Given the description of an element on the screen output the (x, y) to click on. 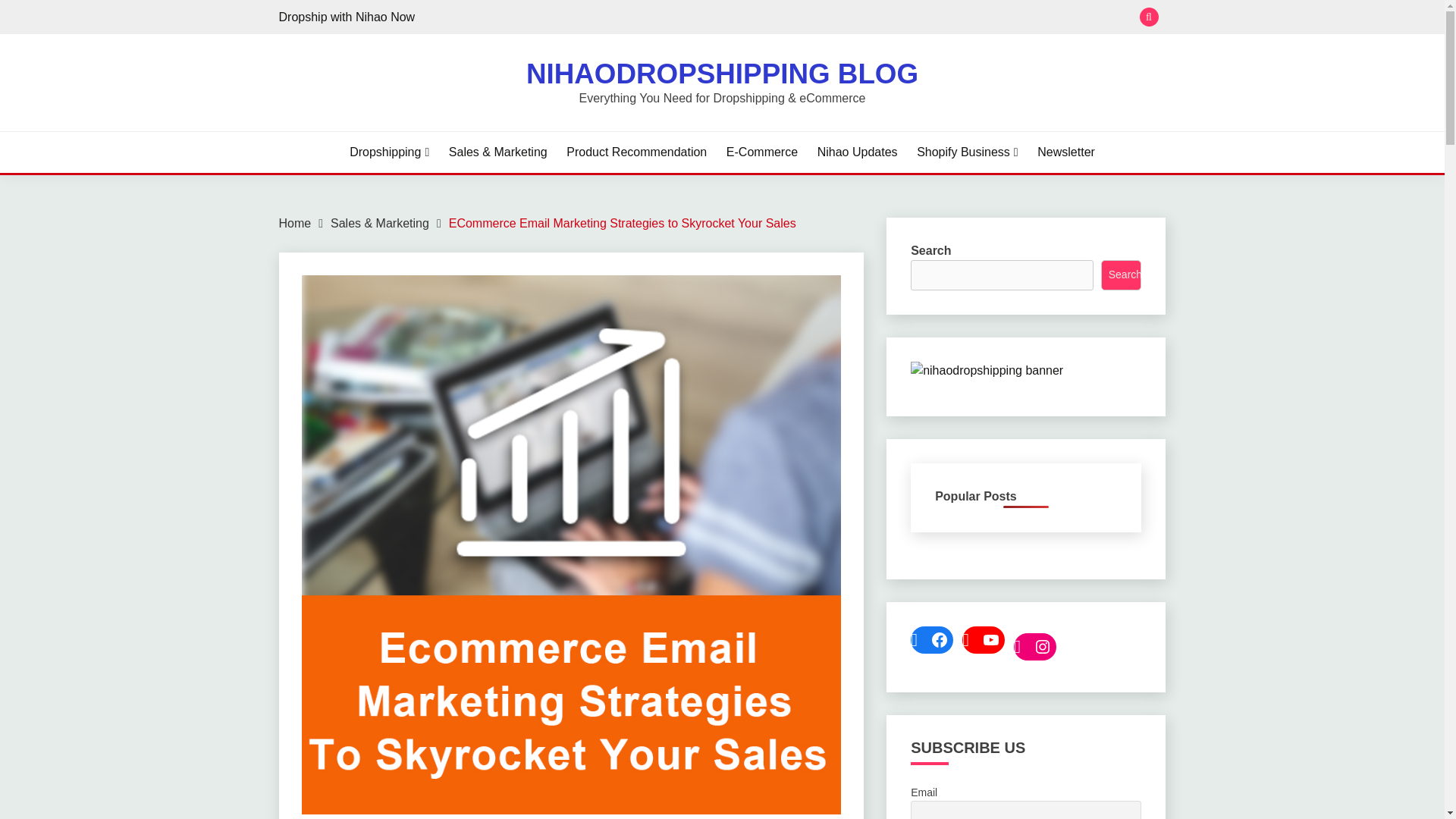
Dropshipping (389, 152)
Search (832, 18)
Newsletter (1065, 152)
Shopify Business (967, 152)
NIHAODROPSHIPPING BLOG (721, 73)
Product Recommendation (636, 152)
Home (295, 223)
E-Commerce (761, 152)
ECommerce Email Marketing Strategies to Skyrocket Your Sales (622, 223)
Dropship with Nihao Now (346, 16)
